Given the description of an element on the screen output the (x, y) to click on. 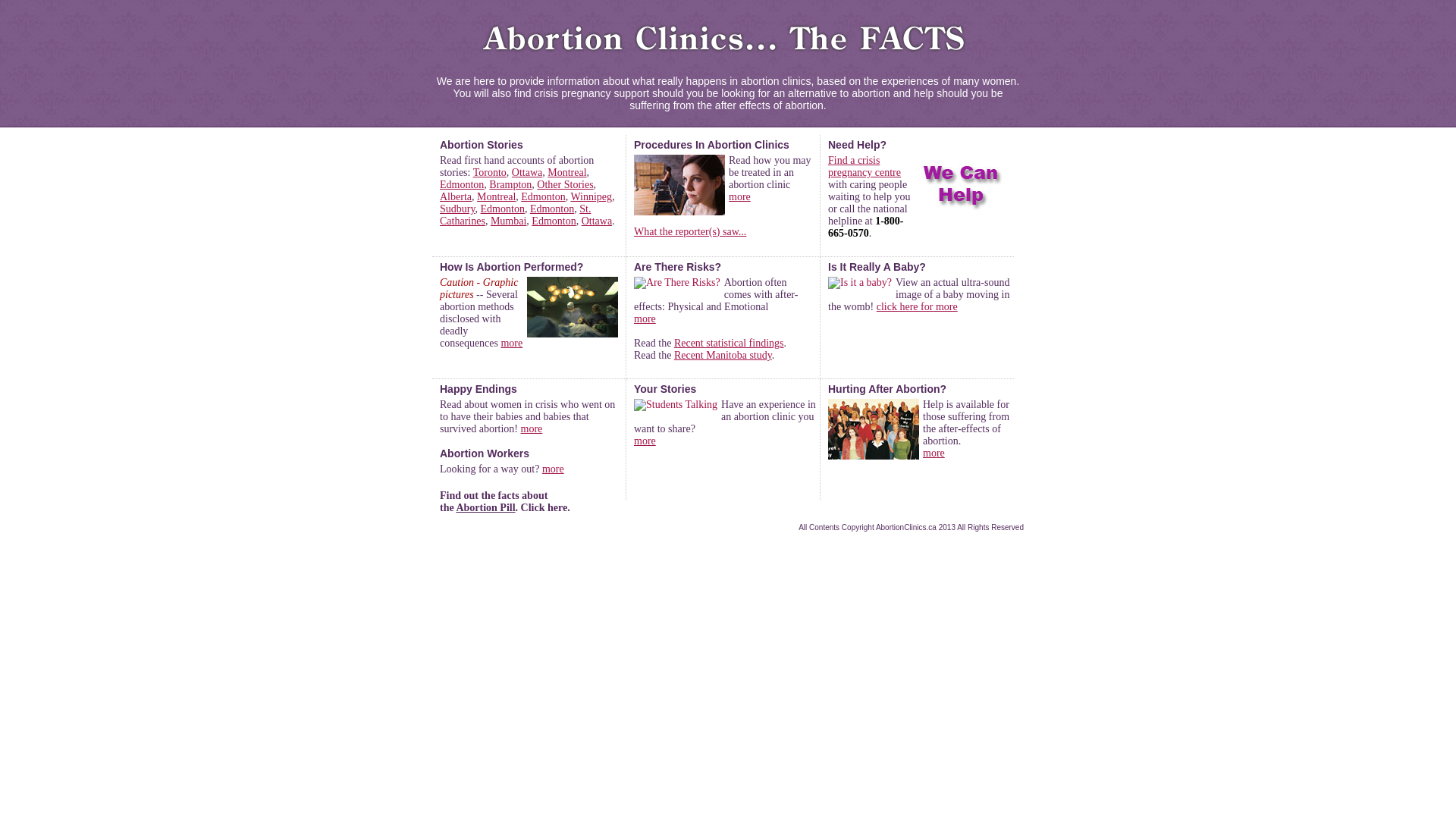
more Element type: text (553, 468)
more Element type: text (644, 318)
more Element type: text (644, 440)
Edmonton Element type: text (553, 220)
Recent statistical findings Element type: text (729, 342)
Montreal Element type: text (566, 172)
more Element type: text (739, 196)
Ottawa Element type: text (596, 220)
What the reporter(s) saw... Element type: text (689, 231)
more Element type: text (933, 452)
Mumbai Element type: text (508, 220)
St. Catharines Element type: text (514, 214)
Find a crisis pregnancy centre Element type: text (864, 166)
Toronto Element type: text (489, 172)
Other Stories Element type: text (564, 184)
Edmonton Element type: text (542, 196)
more Element type: text (531, 428)
Brampton Element type: text (510, 184)
Montreal Element type: text (495, 196)
Recent Manitoba study Element type: text (722, 354)
Abortion Pill Element type: text (484, 507)
Edmonton Element type: text (552, 208)
Ottawa Element type: text (526, 172)
click here for more Element type: text (916, 306)
Edmonton Element type: text (502, 208)
Winnipeg Element type: text (590, 196)
Alberta Element type: text (455, 196)
Sudbury Element type: text (457, 208)
more Element type: text (511, 342)
Edmonton Element type: text (461, 184)
